Given the description of an element on the screen output the (x, y) to click on. 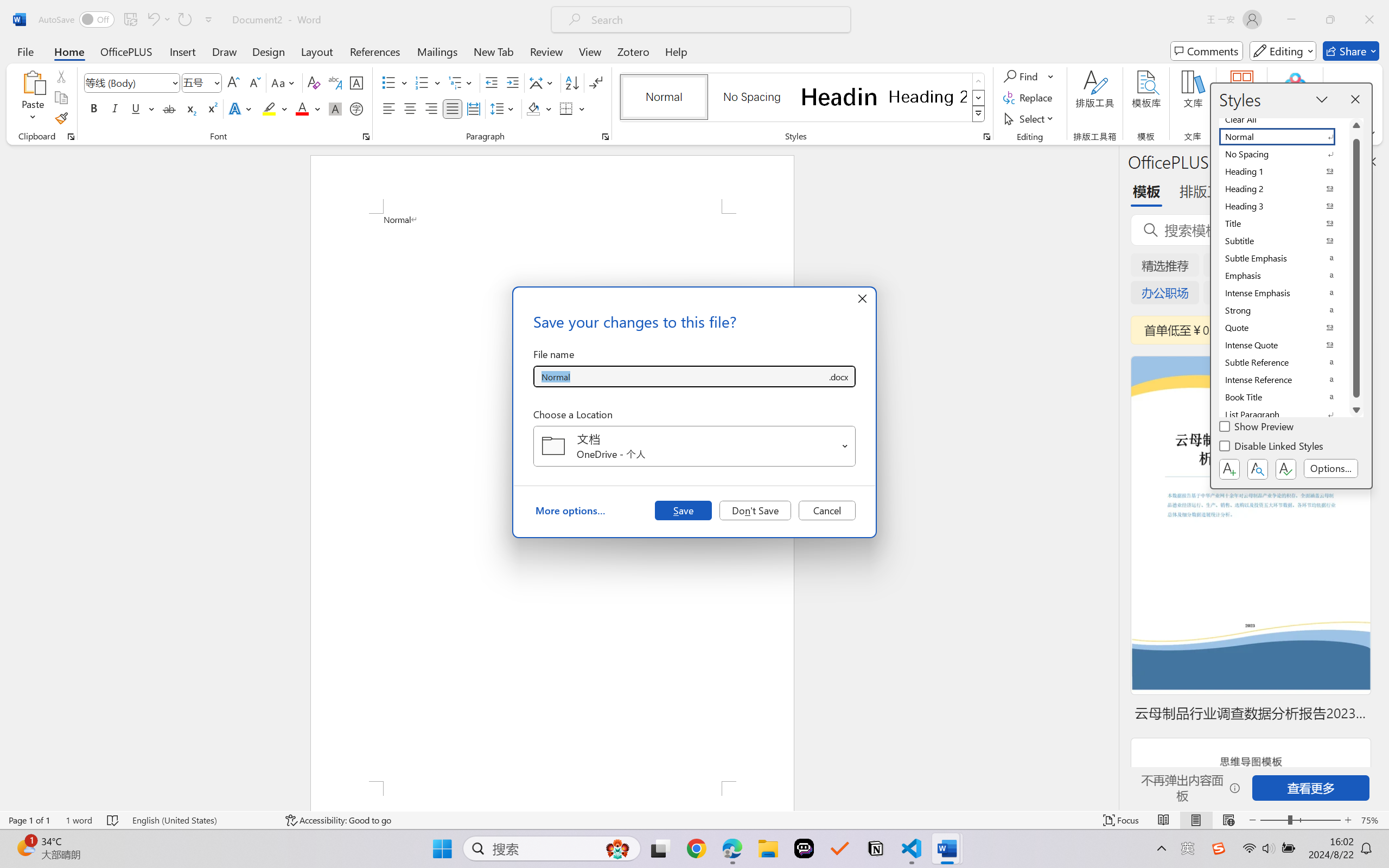
AutomationID: QuickStylesGallery (802, 97)
Show Preview (1257, 428)
Increase Indent (512, 82)
Notion (875, 848)
Font Size (196, 82)
Find (1022, 75)
Font... (365, 136)
Cancel (826, 509)
Word Count 1 word (78, 819)
Heading 2 (927, 96)
